Given the description of an element on the screen output the (x, y) to click on. 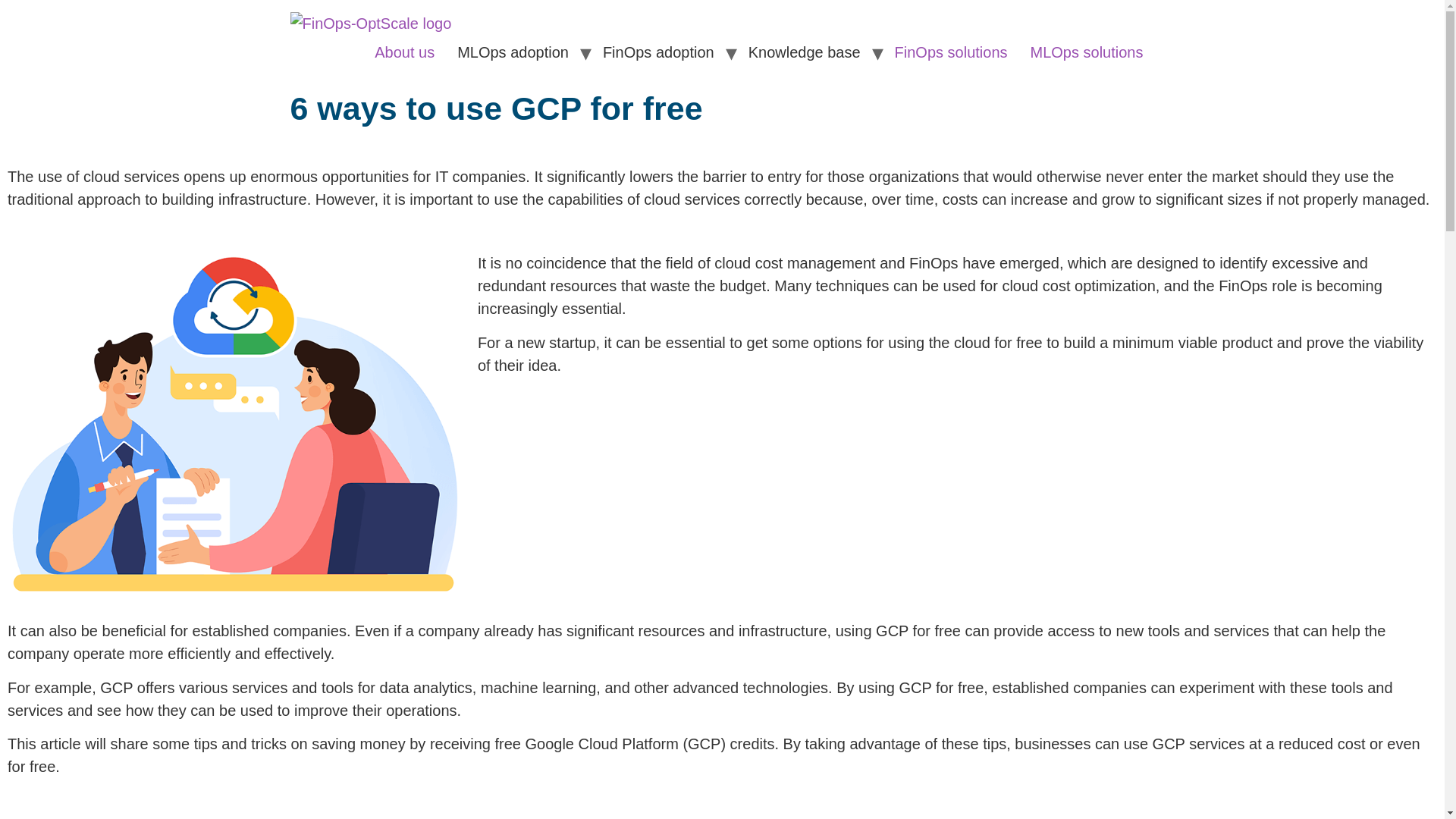
Knowledge base (804, 52)
FinOps adoption (658, 52)
MLOps solutions (1086, 52)
FinOps solutions (951, 52)
About us (403, 52)
MLOps adoption (512, 52)
